Given the description of an element on the screen output the (x, y) to click on. 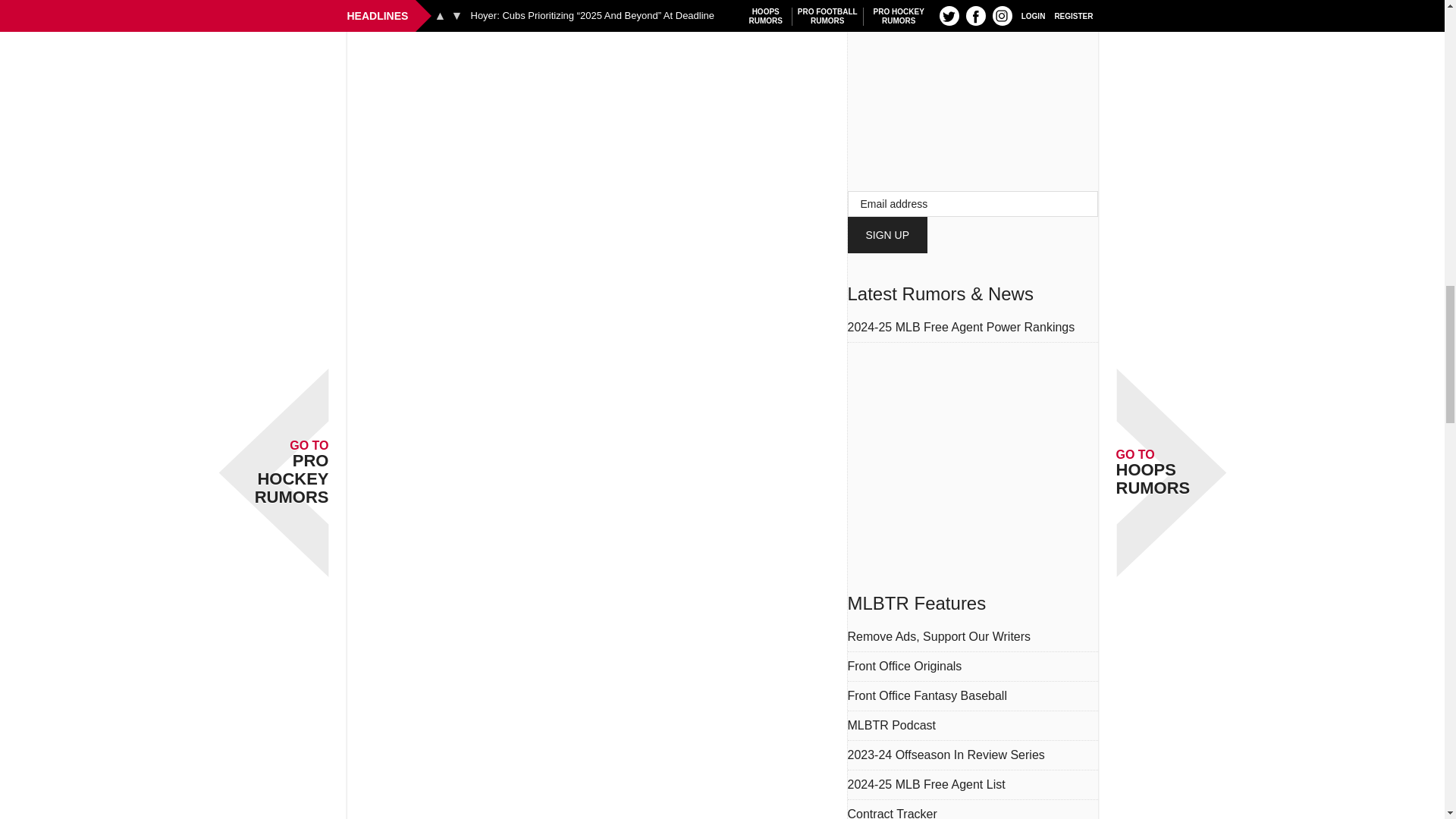
Sign Up (887, 235)
